Given the description of an element on the screen output the (x, y) to click on. 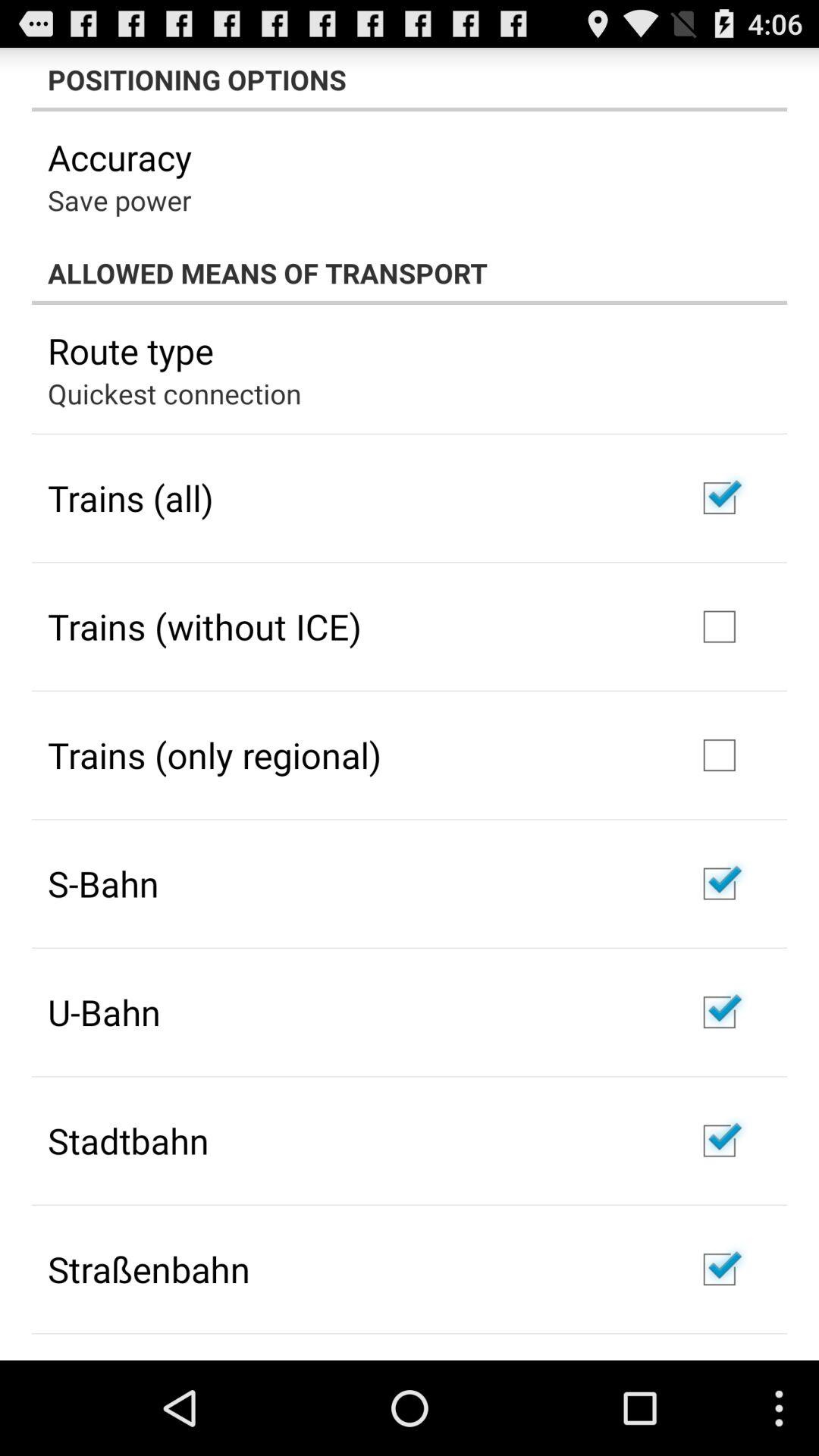
turn on the app below the u-bahn item (127, 1140)
